Given the description of an element on the screen output the (x, y) to click on. 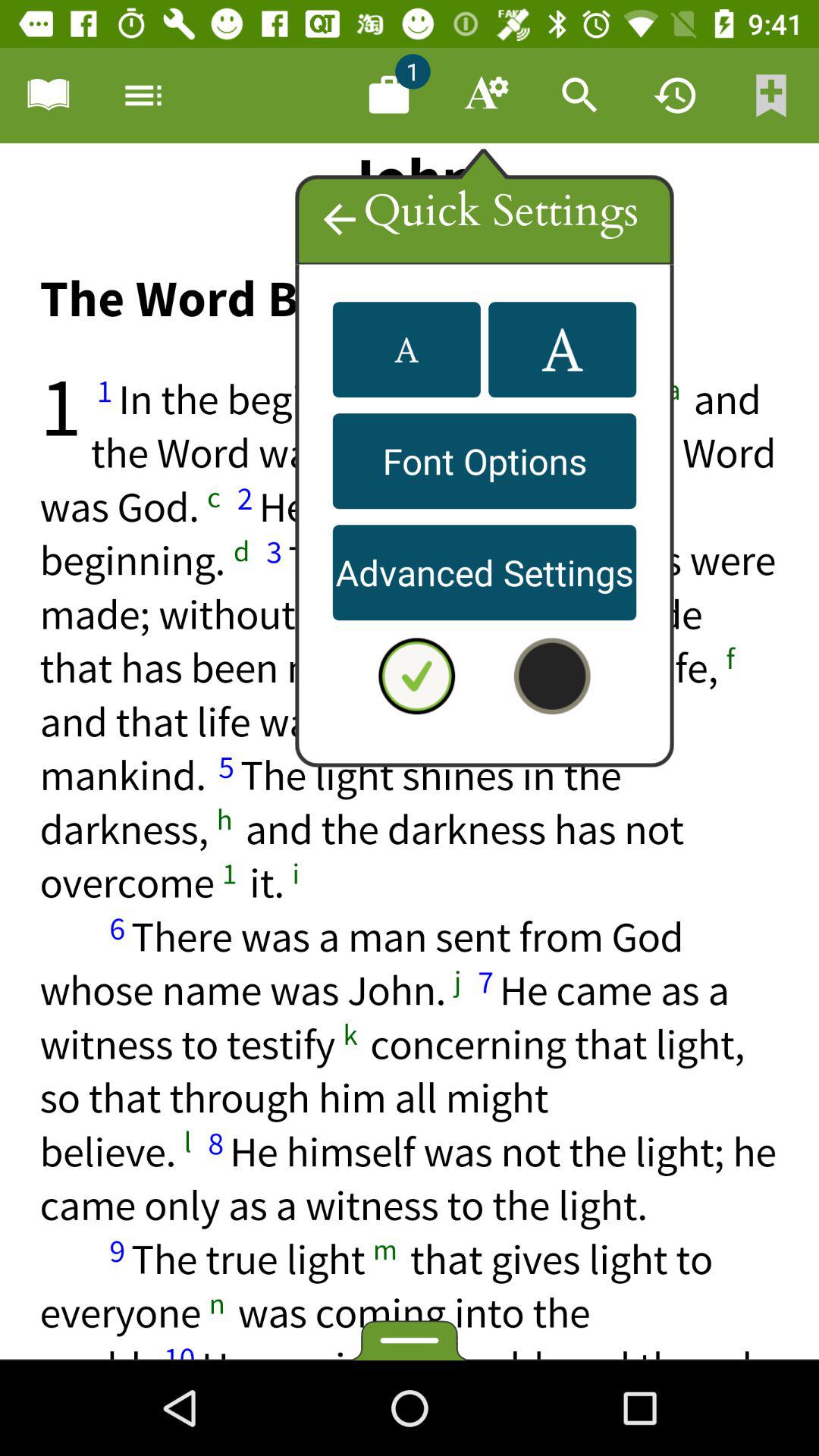
1 document available (388, 95)
